Given the description of an element on the screen output the (x, y) to click on. 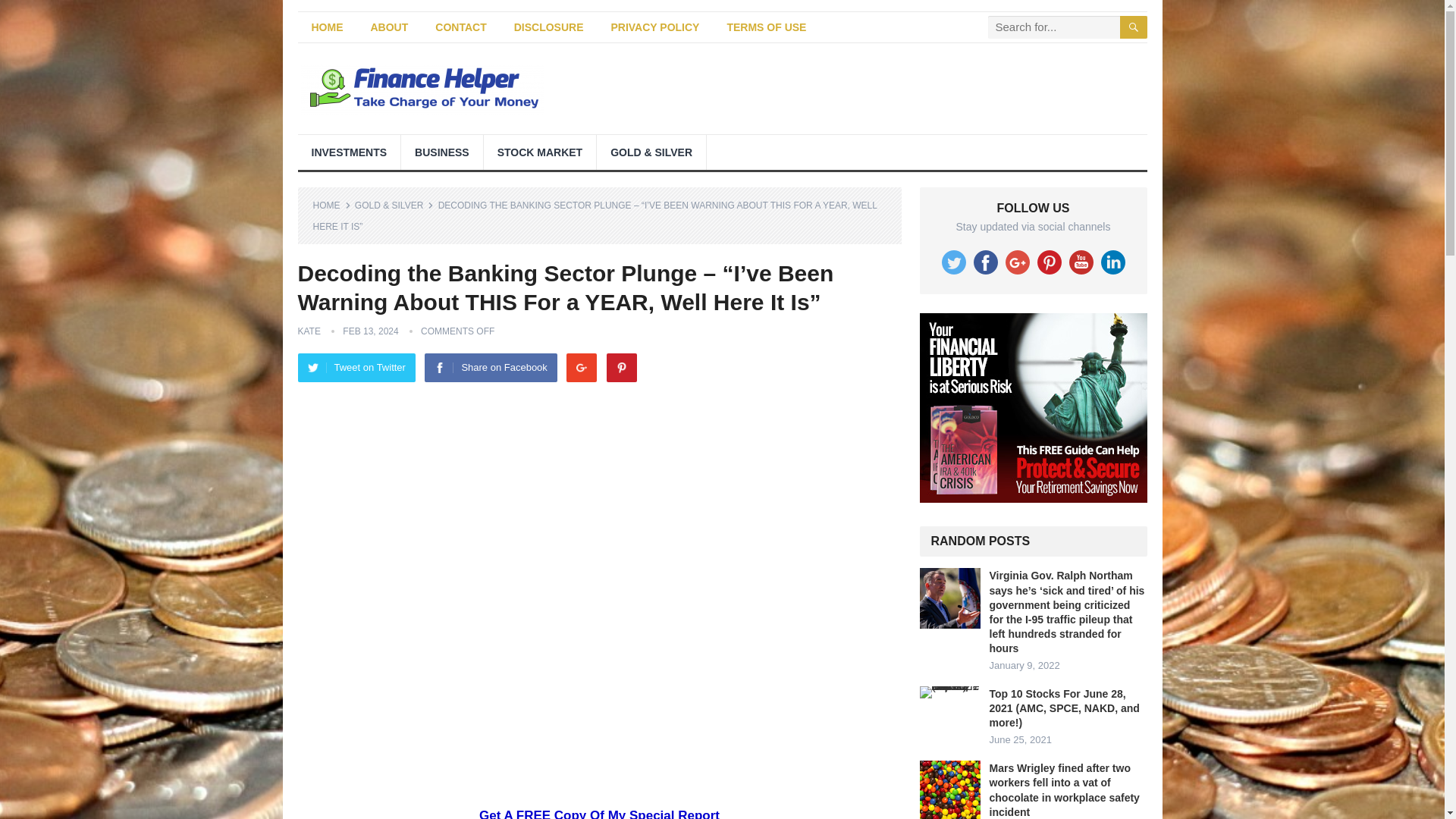
CONTACT (460, 27)
STOCK MARKET (539, 152)
Share on Facebook (490, 367)
INVESTMENTS (348, 152)
DISCLOSURE (548, 27)
TERMS OF USE (766, 27)
KATE (308, 330)
Posts by Kate (308, 330)
HOME (326, 27)
